Given the description of an element on the screen output the (x, y) to click on. 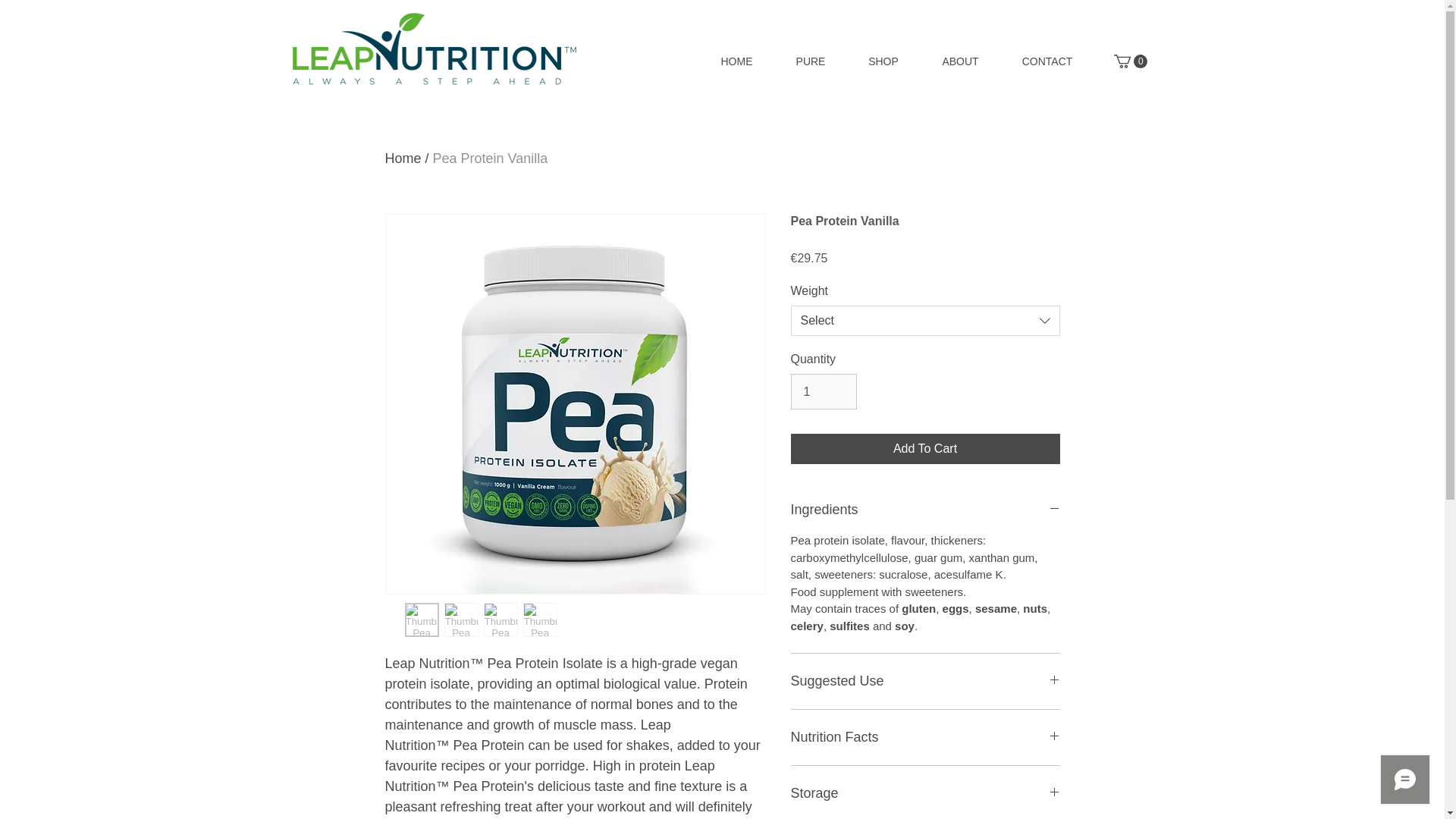
Ingredients (924, 509)
Pea Protein Vanilla (490, 158)
Storage (924, 793)
Home (403, 158)
0 (1130, 60)
Select (924, 320)
CONTACT (1047, 61)
1 (823, 390)
SHOP (882, 61)
PURE (810, 61)
